Given the description of an element on the screen output the (x, y) to click on. 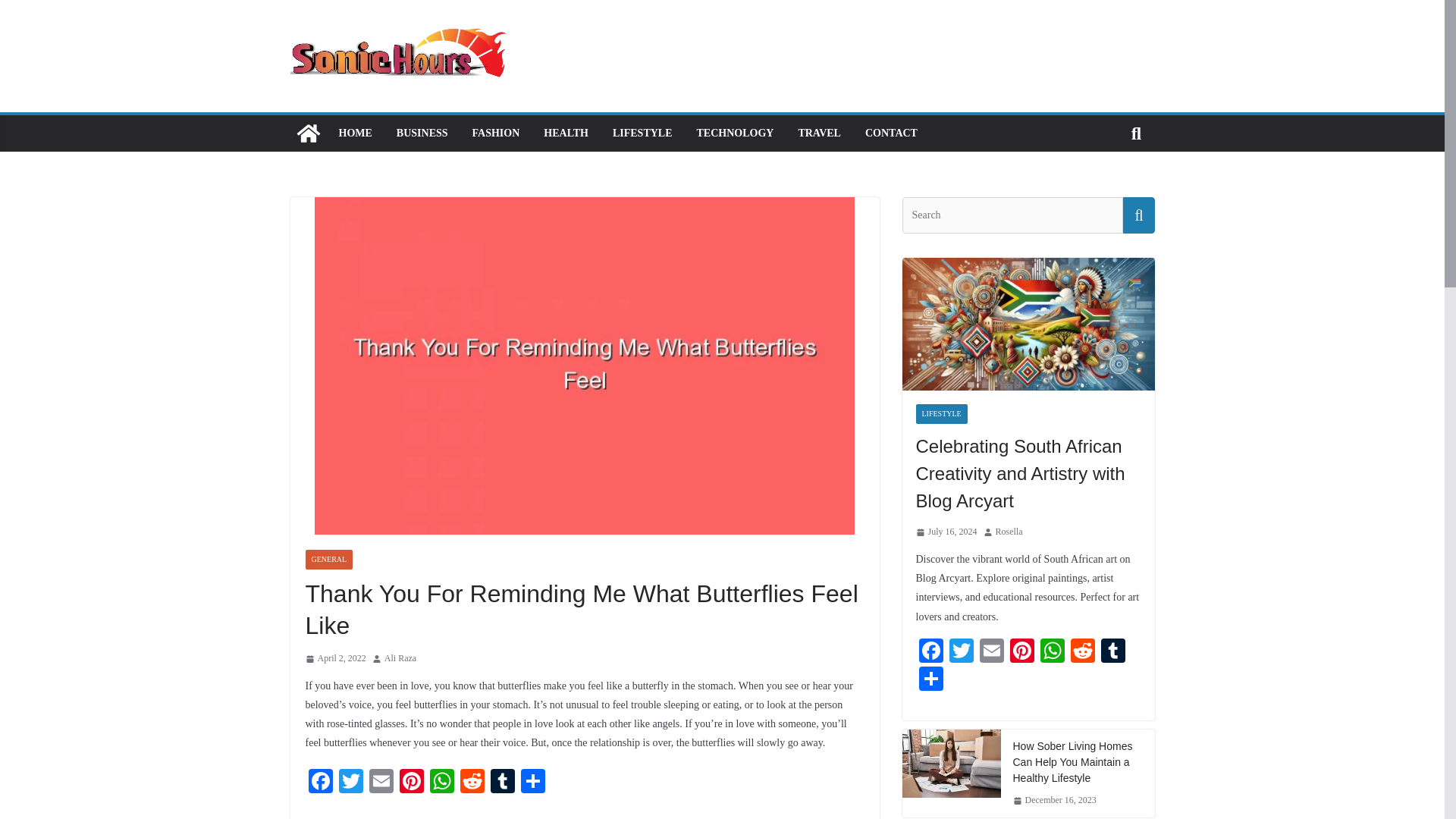
6:31 AM (334, 658)
Facebook (319, 782)
Ali Raza (400, 658)
FASHION (495, 133)
Email (380, 782)
Pinterest (411, 782)
Sonic Hours (307, 133)
April 2, 2022 (334, 658)
Twitter (349, 782)
